Given the description of an element on the screen output the (x, y) to click on. 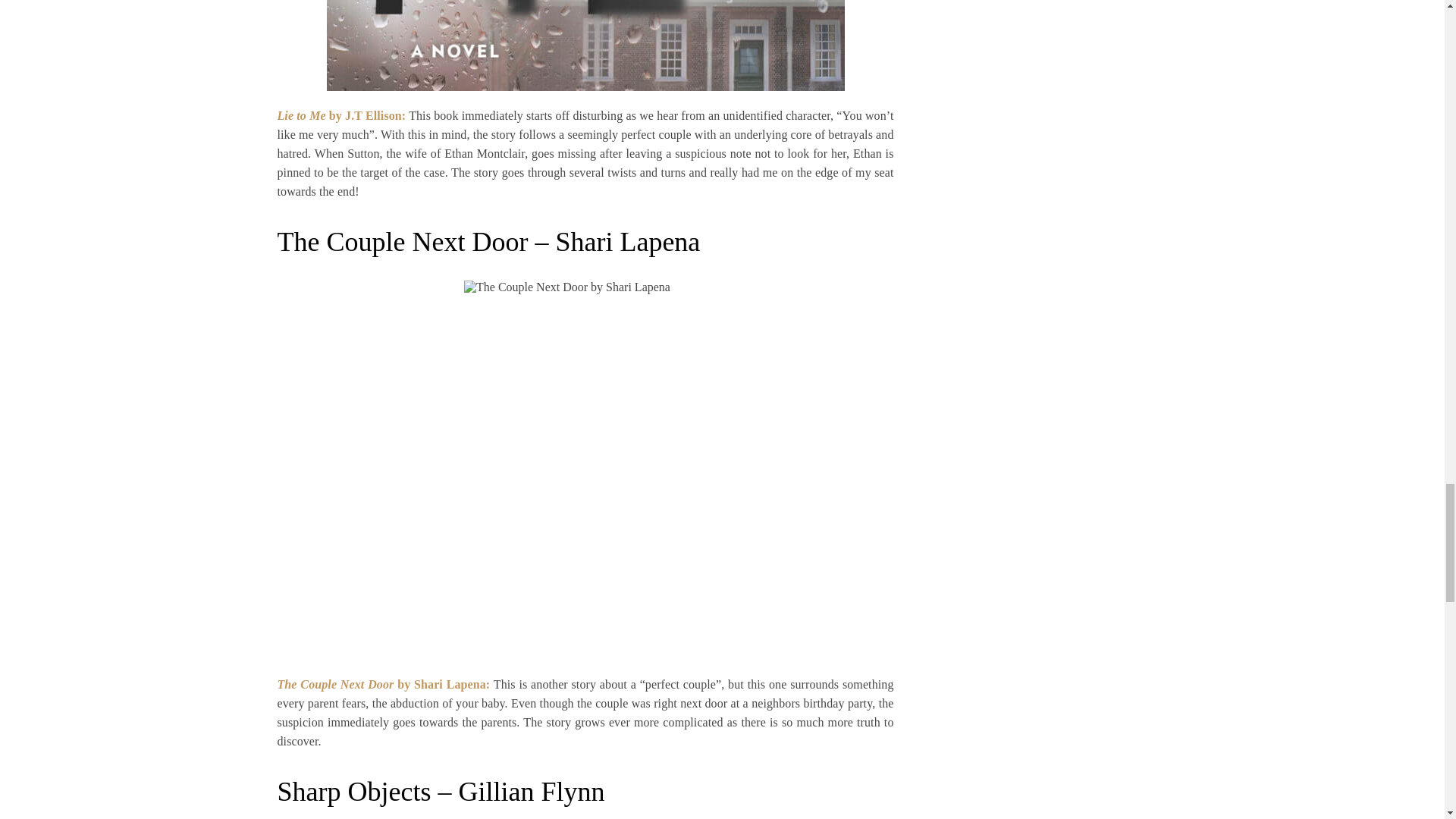
Lie to Me by J.T Ellison: (342, 115)
The Couple Next Door by Shari Lapena: (385, 684)
